Given the description of an element on the screen output the (x, y) to click on. 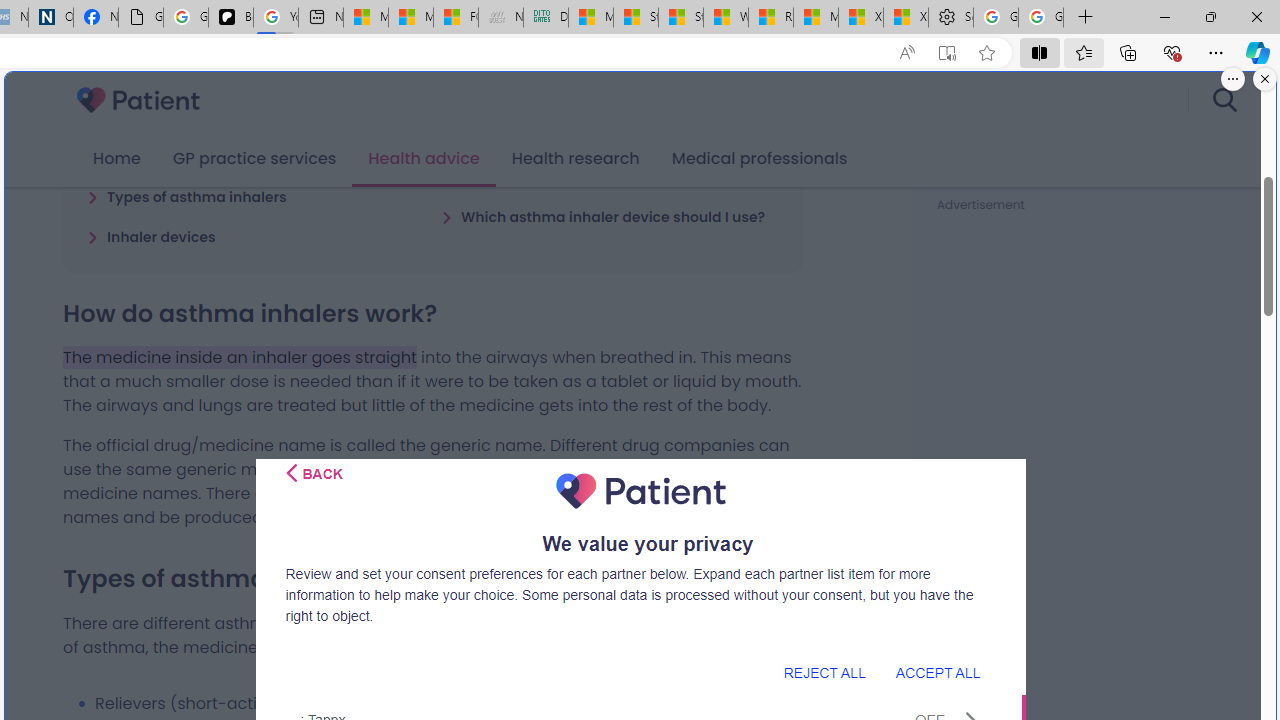
Are there any side-effects from asthma inhalers? (610, 167)
Publisher Logo (640, 491)
Be Smart | creating Science videos | Patreon (230, 17)
GP practice services (254, 159)
REJECT ALL (824, 672)
